Given the description of an element on the screen output the (x, y) to click on. 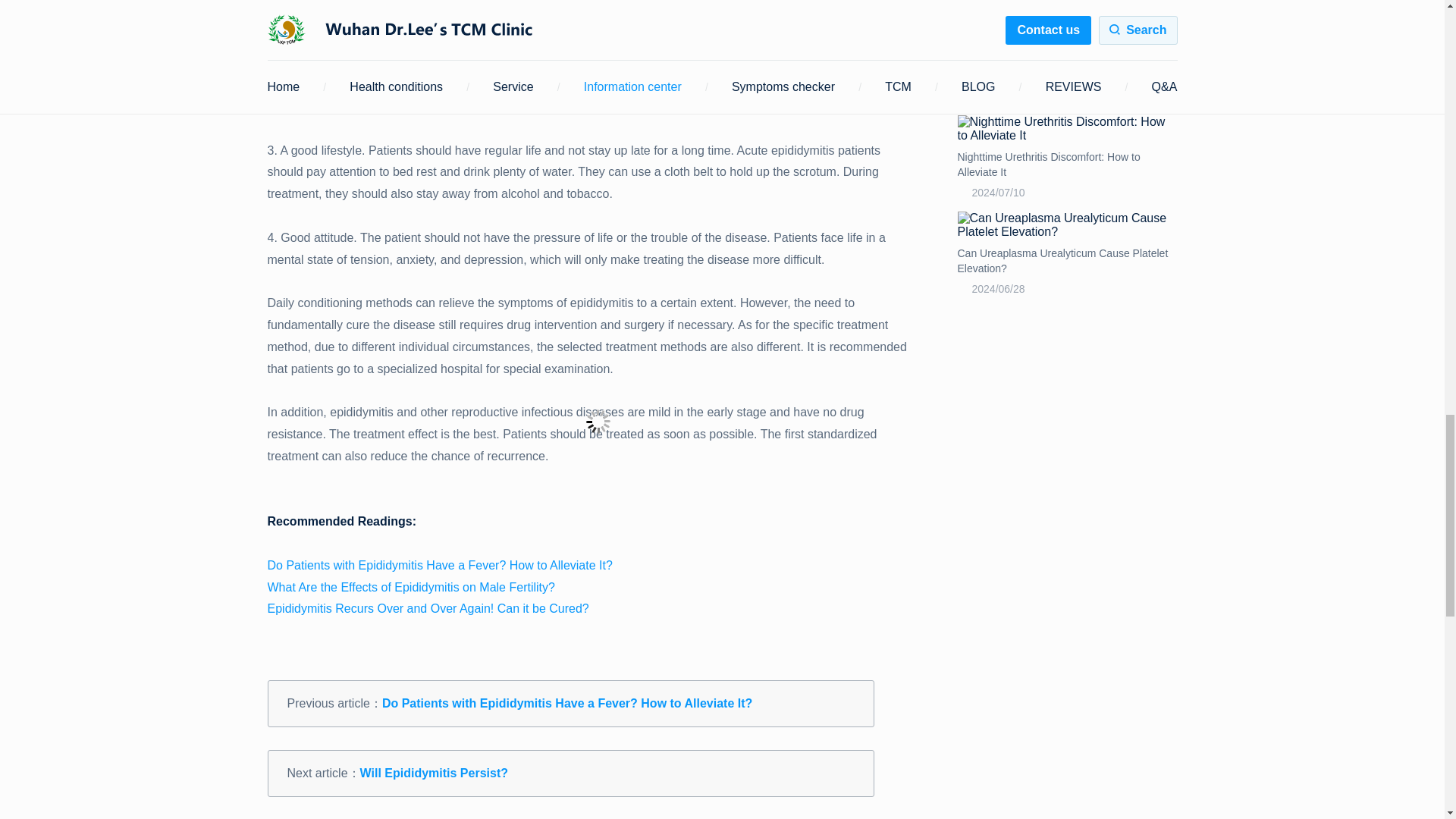
Nighttime Urethritis Discomfort: How to Alleviate It (1066, 128)
Can Ureaplasma Urealyticum Cause Platelet Elevation? (1066, 225)
Will Epididymitis Persist? (433, 772)
Can Ureaplasma Urealyticum Cause Platelet Elevation? (1066, 261)
Nighttime Urethritis Discomfort: How to Alleviate It (1066, 164)
